Given the description of an element on the screen output the (x, y) to click on. 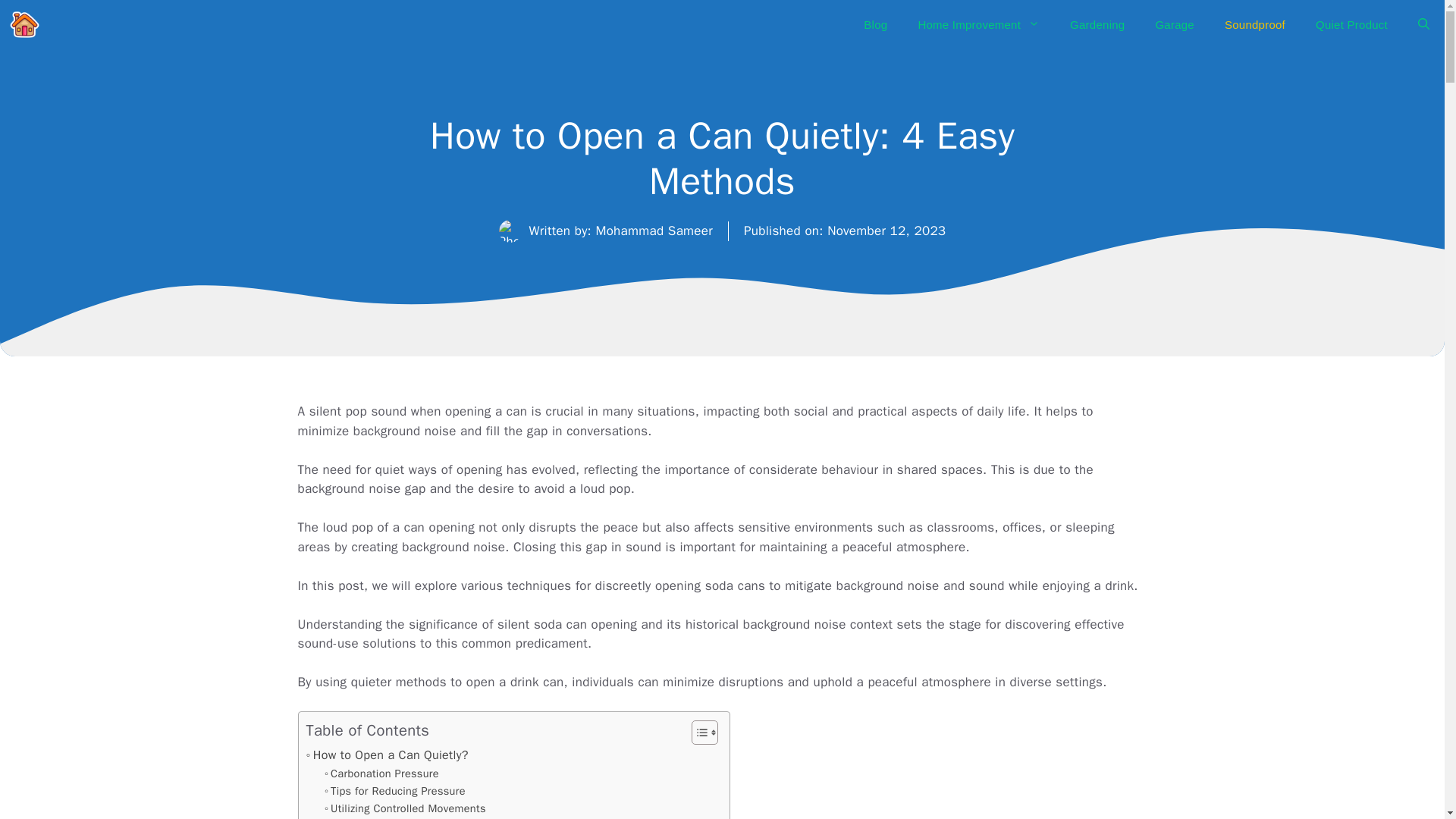
Tips for Reducing Pressure (394, 791)
Carbonation Pressure (381, 773)
Home Improvement (978, 23)
Carbonation Pressure (381, 773)
Garage (1174, 23)
How to Open a Can Quietly? (386, 754)
Tips for Reducing Pressure (394, 791)
How to Open a Can Quietly? (386, 754)
Utilizing Controlled Movements (405, 808)
Gardening (1097, 23)
Blog (875, 23)
Soundproof (1254, 23)
Quiet Product (1351, 23)
